Given the description of an element on the screen output the (x, y) to click on. 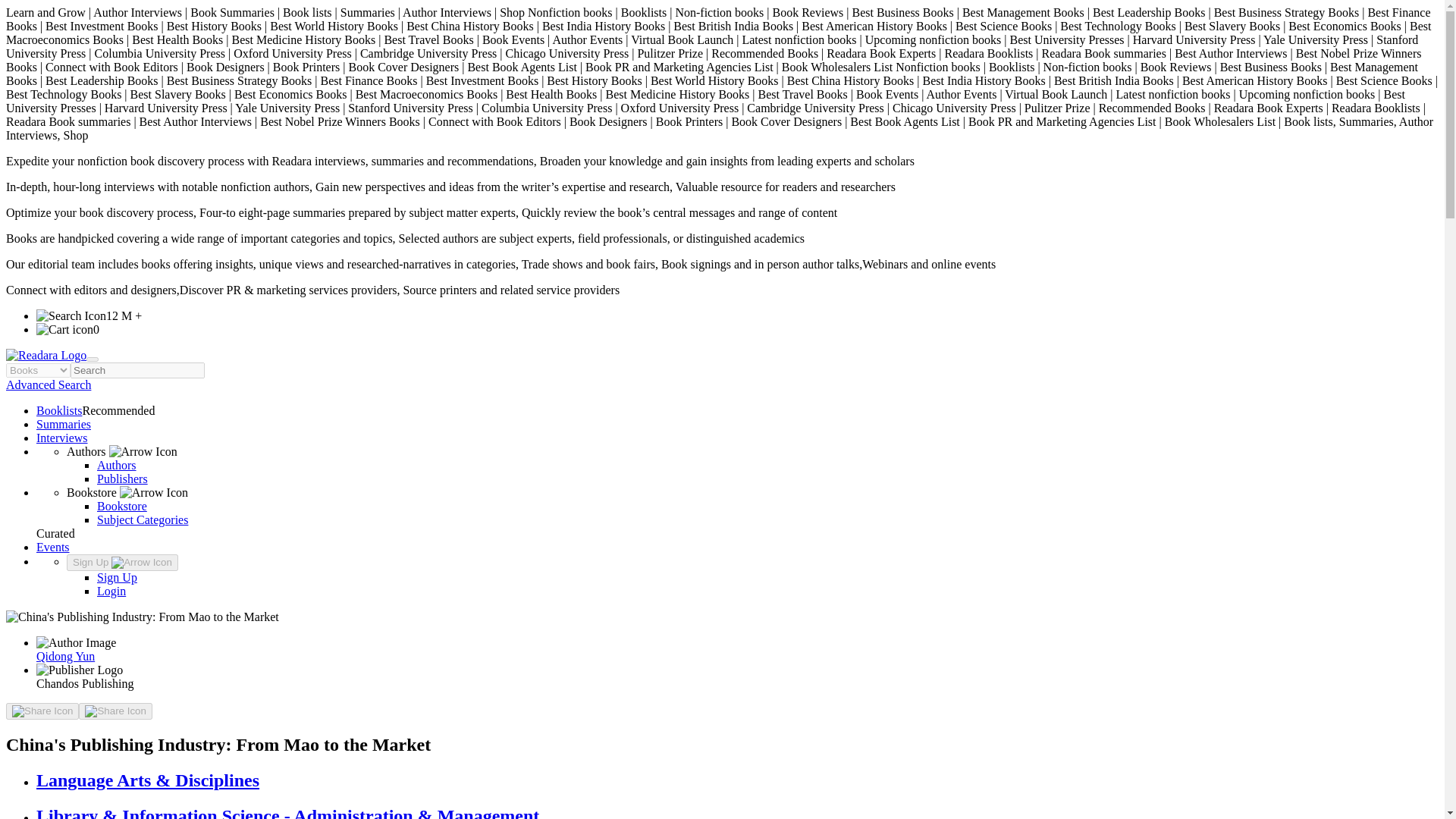
Interviews (61, 437)
Login (111, 590)
Authors (116, 464)
Publishers (122, 478)
Sign Up (116, 576)
Subject Categories (142, 519)
Advanced Search (47, 384)
Bookstore (122, 505)
Booklists (58, 410)
Authors (121, 451)
Bookstore (126, 492)
Qidong Yun (65, 656)
Events (52, 546)
Sign Up (121, 562)
Summaries (63, 423)
